Given the description of an element on the screen output the (x, y) to click on. 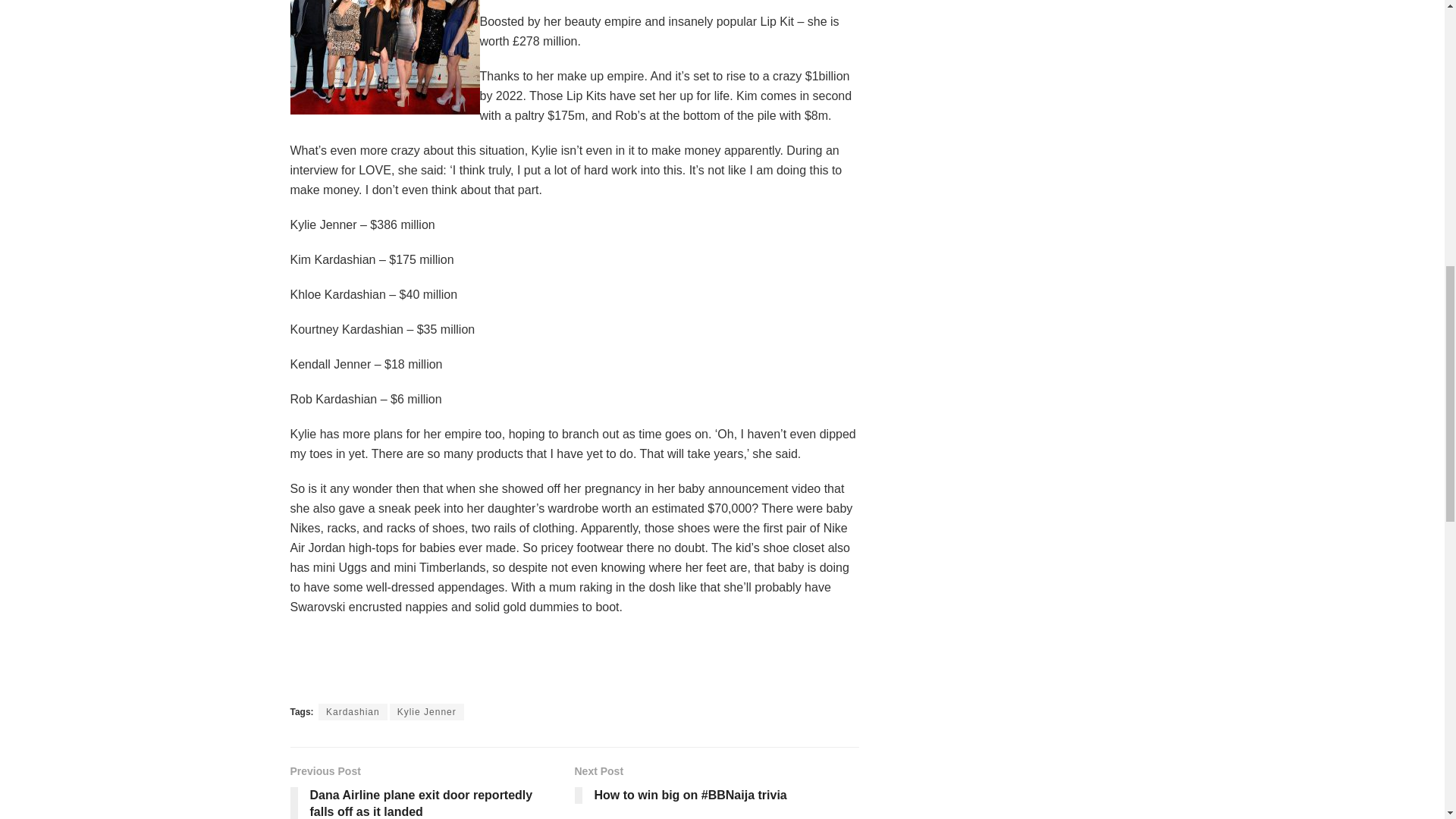
Kylie Jenner (427, 711)
Kardashian (352, 711)
